Given the description of an element on the screen output the (x, y) to click on. 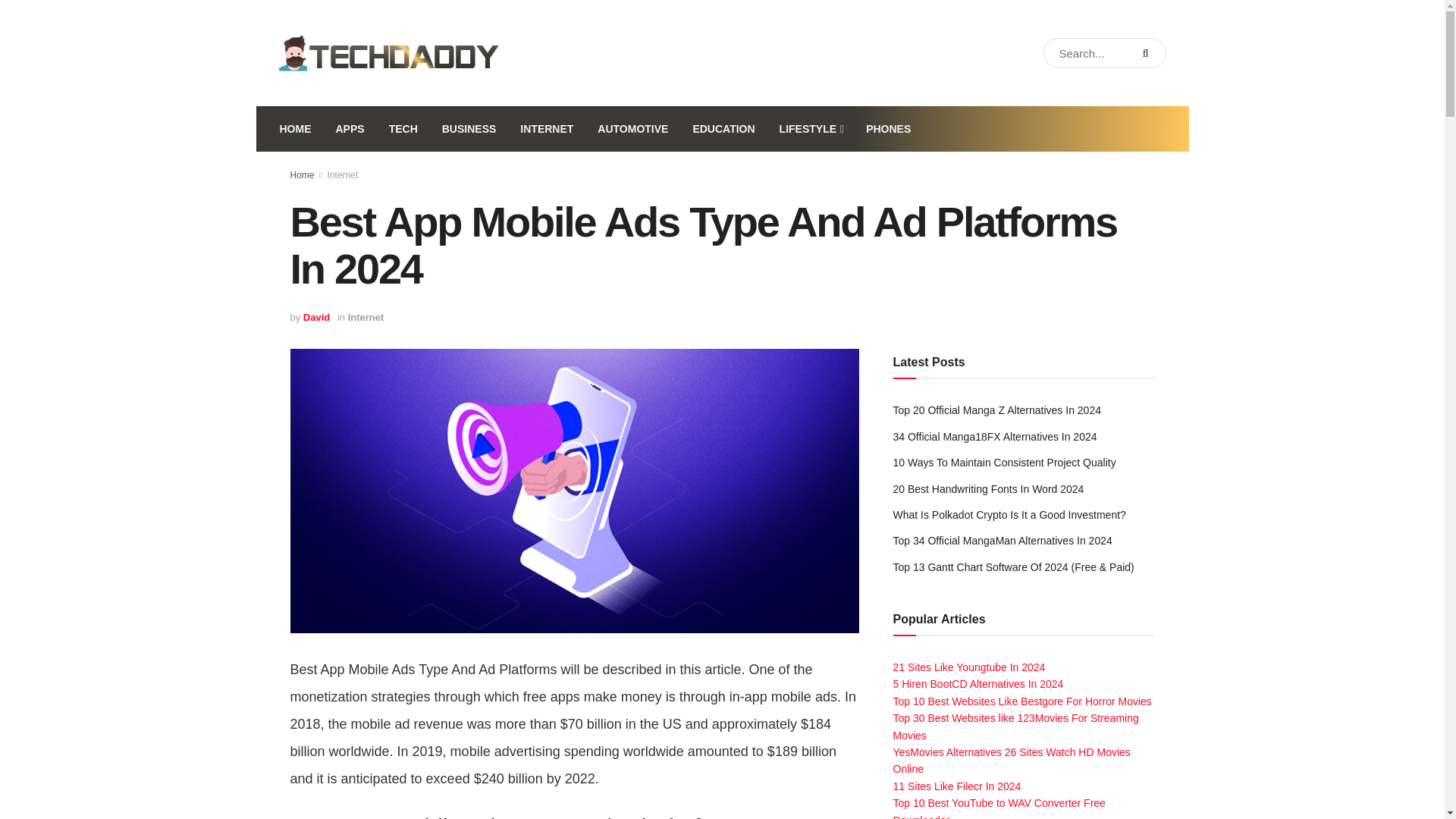
Internet (365, 317)
Home (301, 174)
PHONES (888, 128)
Internet (342, 174)
LIFESTYLE (810, 128)
BUSINESS (468, 128)
APPS (349, 128)
HOME (294, 128)
EDUCATION (723, 128)
INTERNET (546, 128)
AUTOMOTIVE (632, 128)
TECH (403, 128)
David (316, 317)
